Given the description of an element on the screen output the (x, y) to click on. 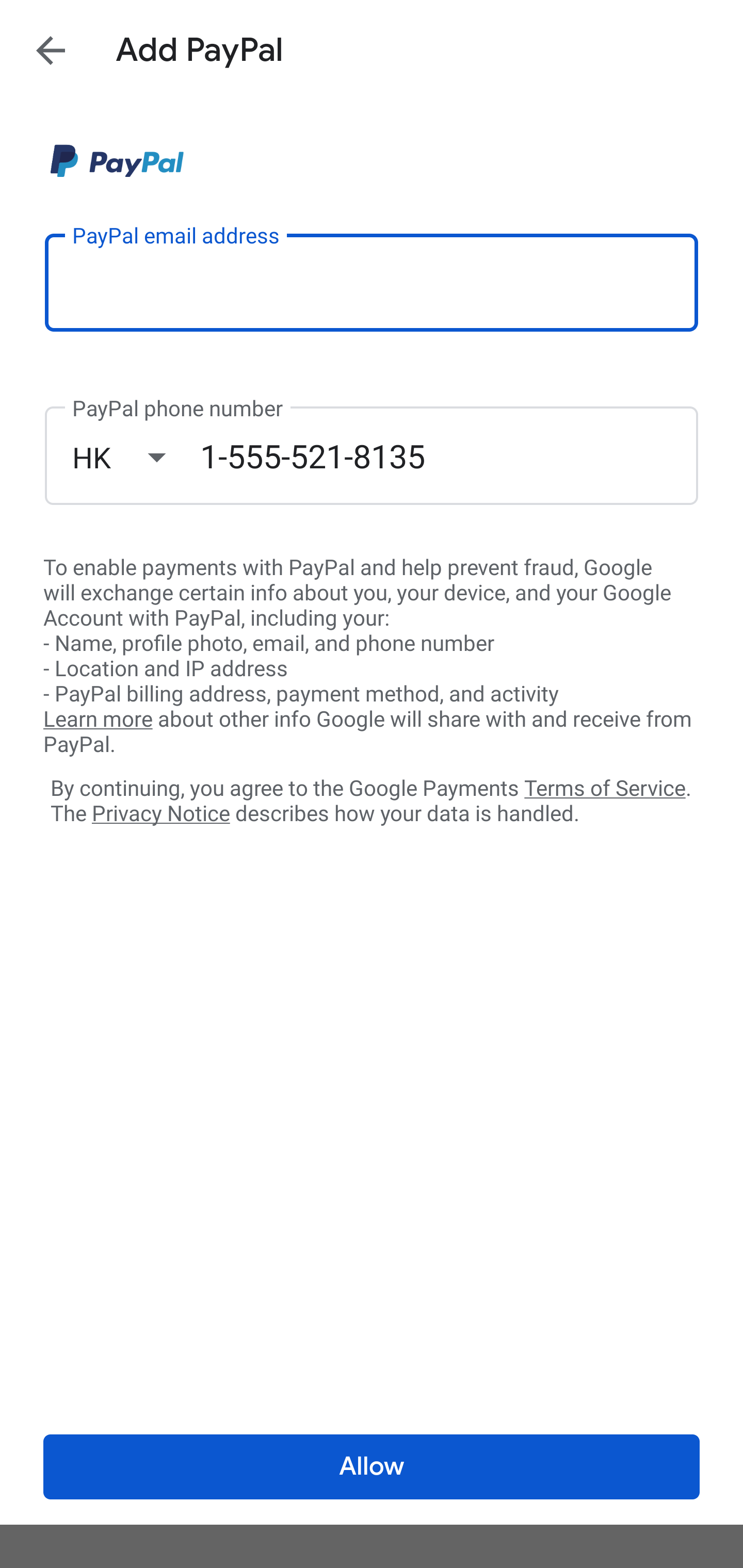
Navigate up (50, 50)
PayPal email address (371, 282)
HK (135, 456)
Learn more (97, 719)
Terms of Service (604, 787)
Privacy Notice (160, 814)
Allow (371, 1466)
